Given the description of an element on the screen output the (x, y) to click on. 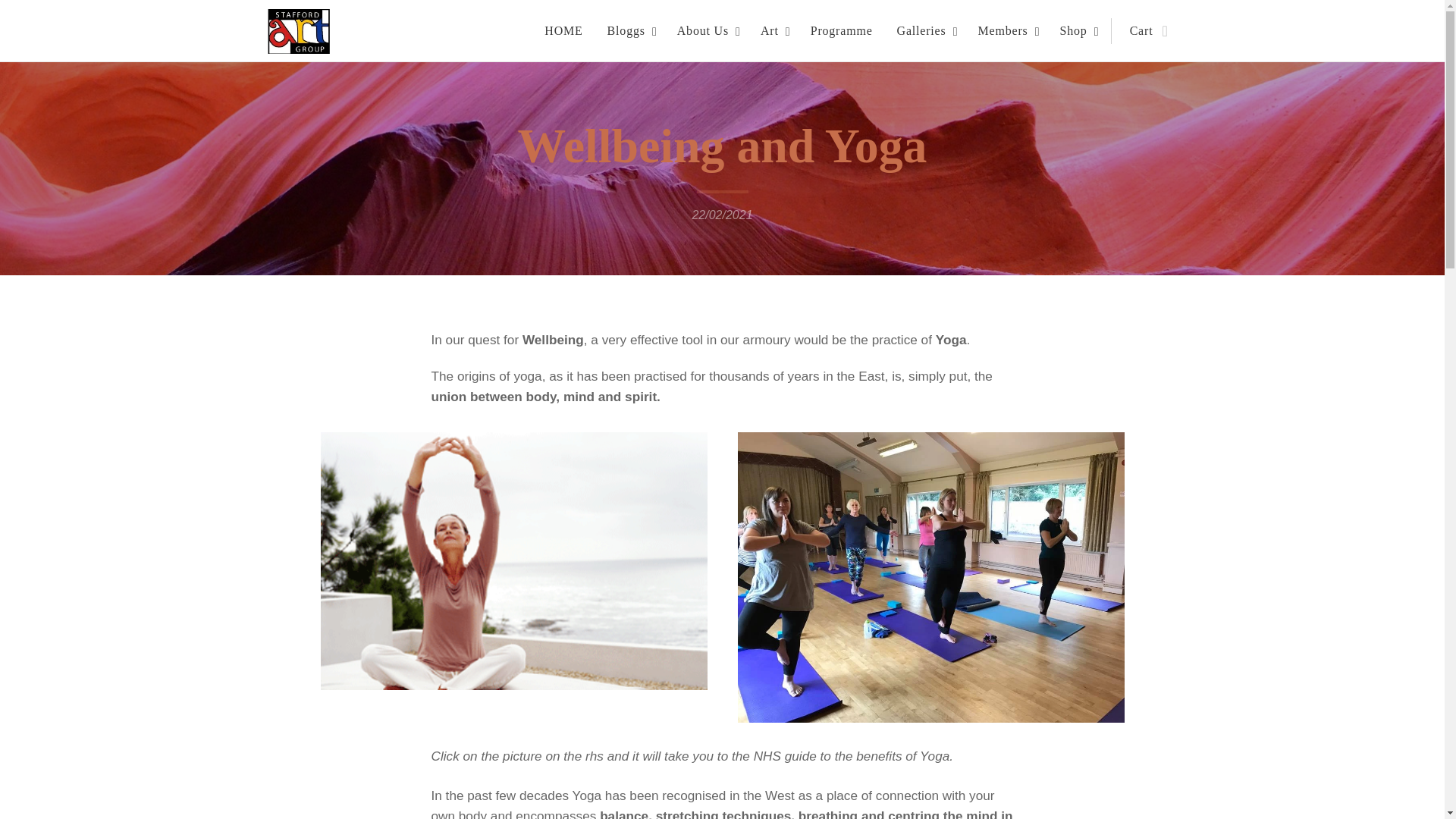
About Us (706, 30)
Galleries (925, 30)
Art (772, 30)
Programme (841, 30)
Cart (1143, 30)
Bloggs (630, 30)
HOME (567, 30)
